Given the description of an element on the screen output the (x, y) to click on. 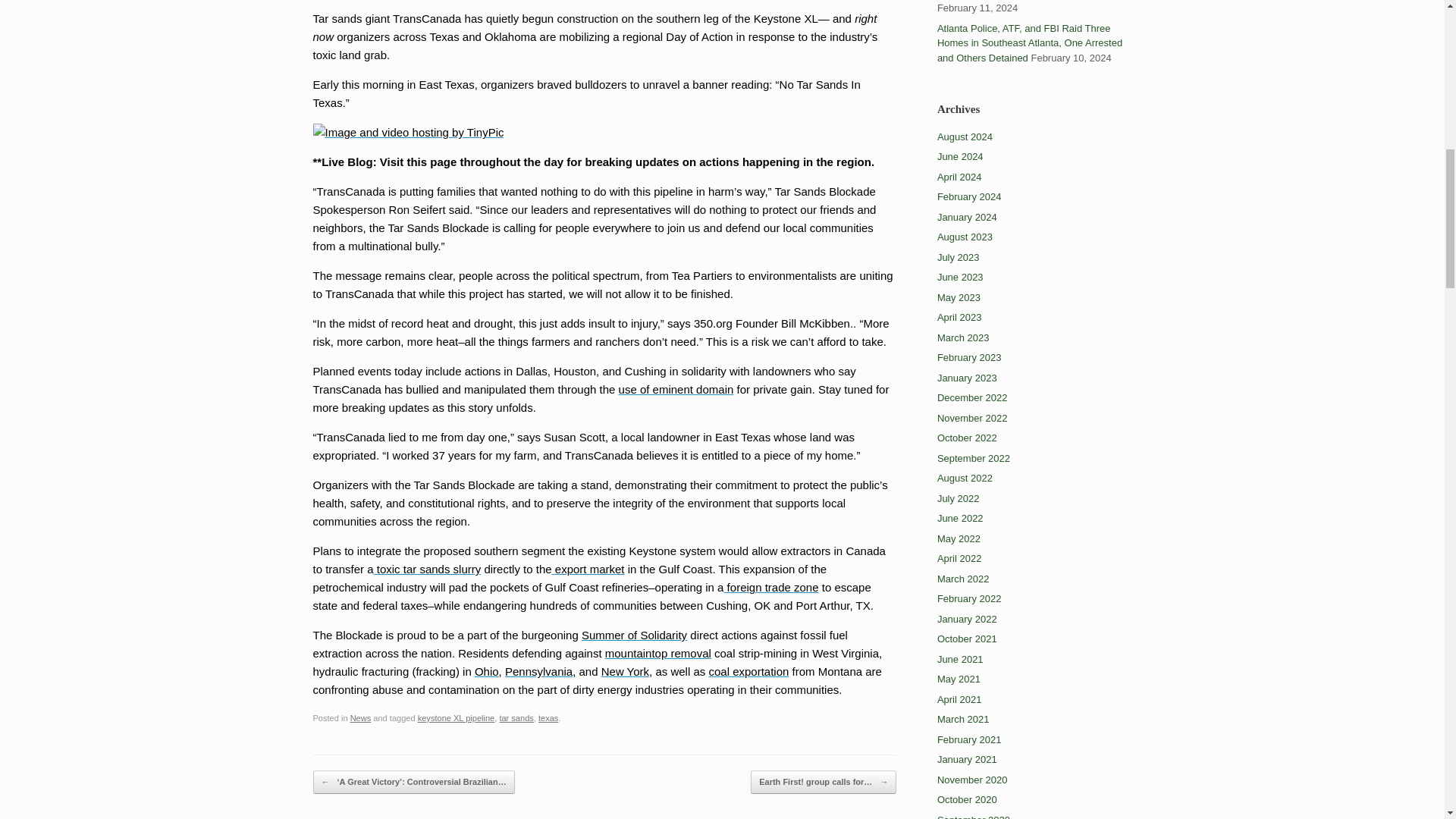
 toxic tar sands slurry (427, 568)
Summer of Solidarity (633, 634)
use of eminent domain (675, 389)
 export market (587, 568)
texas (547, 717)
tar sands (515, 717)
Ohio (486, 671)
New York (625, 671)
 foreign trade zone (770, 586)
Pennsylvania (538, 671)
